Given the description of an element on the screen output the (x, y) to click on. 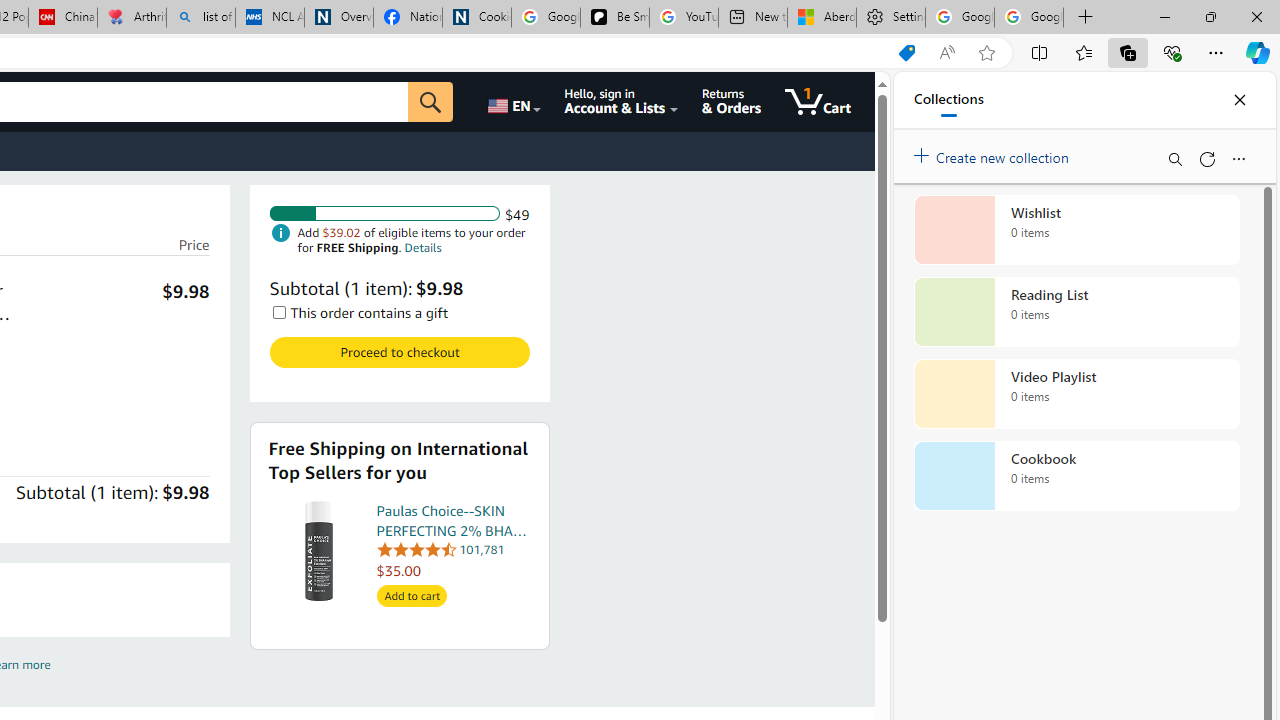
Arthritis: Ask Health Professionals (132, 17)
Create new collection (994, 153)
Be Smart | creating Science videos | Patreon (614, 17)
